Given the description of an element on the screen output the (x, y) to click on. 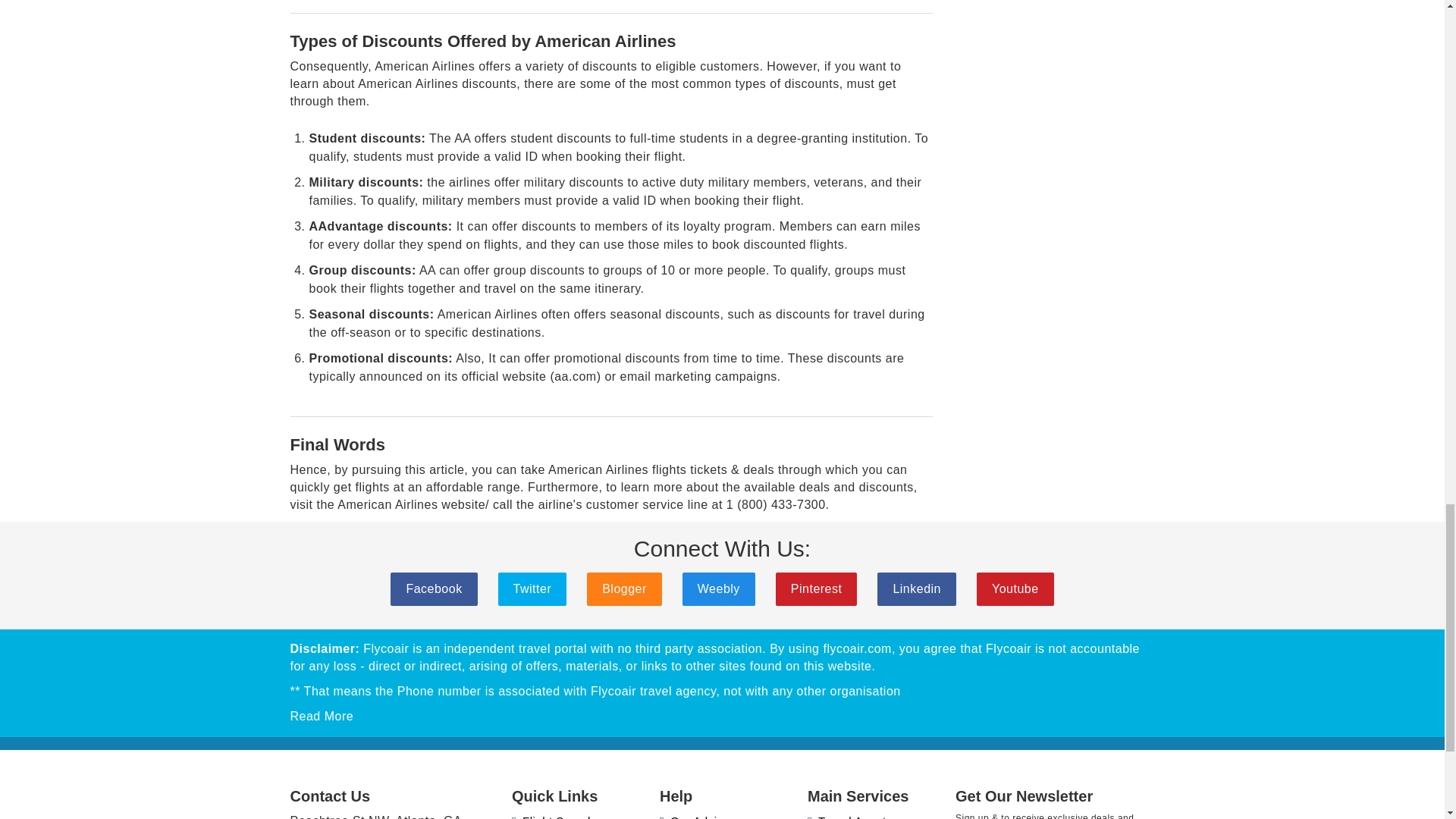
Twitter (532, 589)
Travel Agent (847, 816)
Weebly (718, 589)
Linkedin (916, 589)
Blogger (624, 589)
Pinterest (816, 589)
Flight Search (553, 816)
Our Advices (697, 816)
Facebook (433, 589)
Youtube (1015, 589)
